Given the description of an element on the screen output the (x, y) to click on. 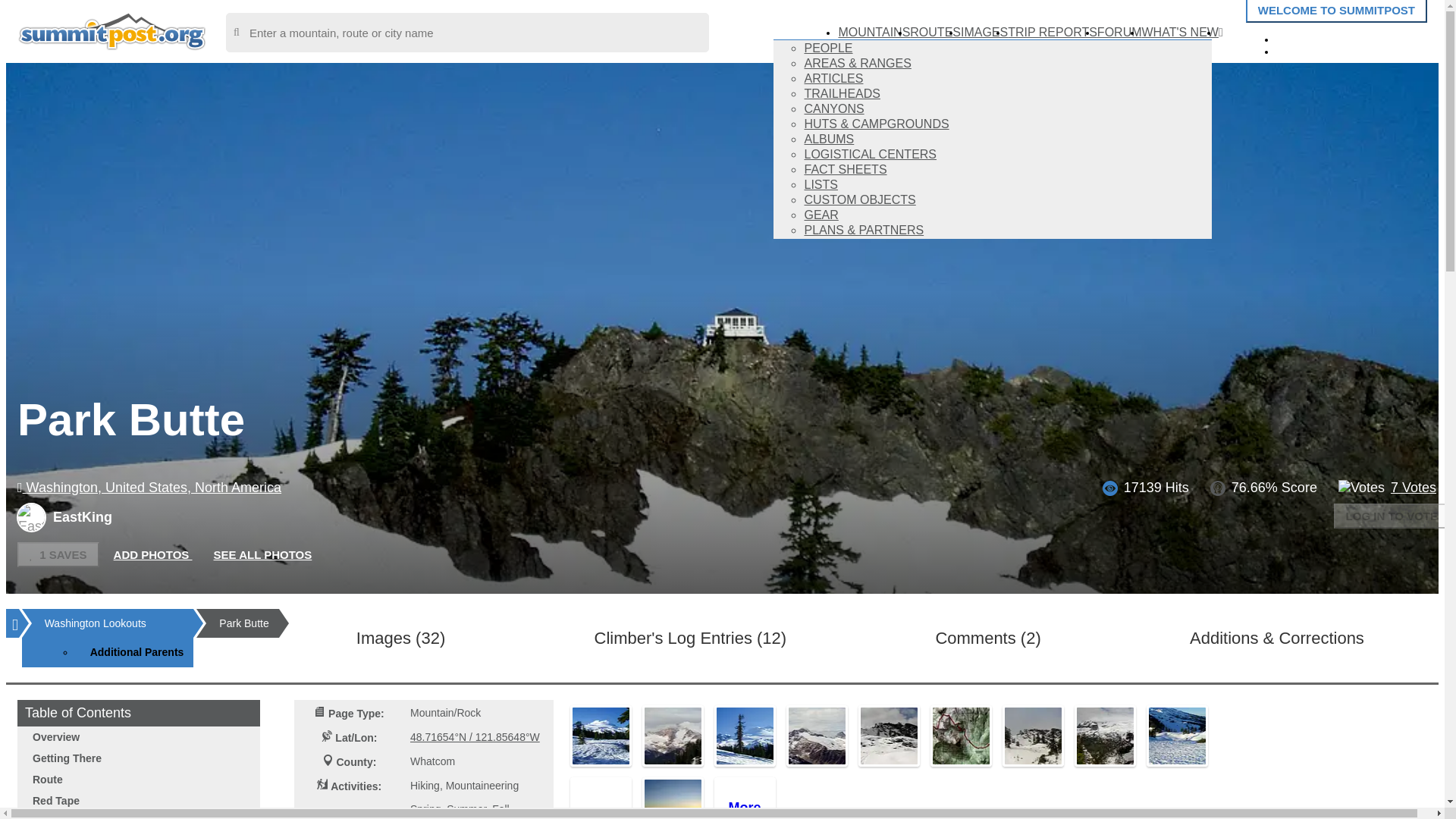
ARTICLES (833, 78)
Map of the Route up Park Butte (960, 735)
Location (325, 736)
Seasons (327, 813)
North and South Twin (816, 735)
SIGN IN (1310, 38)
REGISTER (1318, 50)
Views (1110, 488)
Activities (323, 784)
ADD PHOTOS (153, 554)
SummitPost.org (111, 30)
Washington, United States, North America (149, 487)
Park Butte (600, 735)
PEOPLE (827, 47)
